Given the description of an element on the screen output the (x, y) to click on. 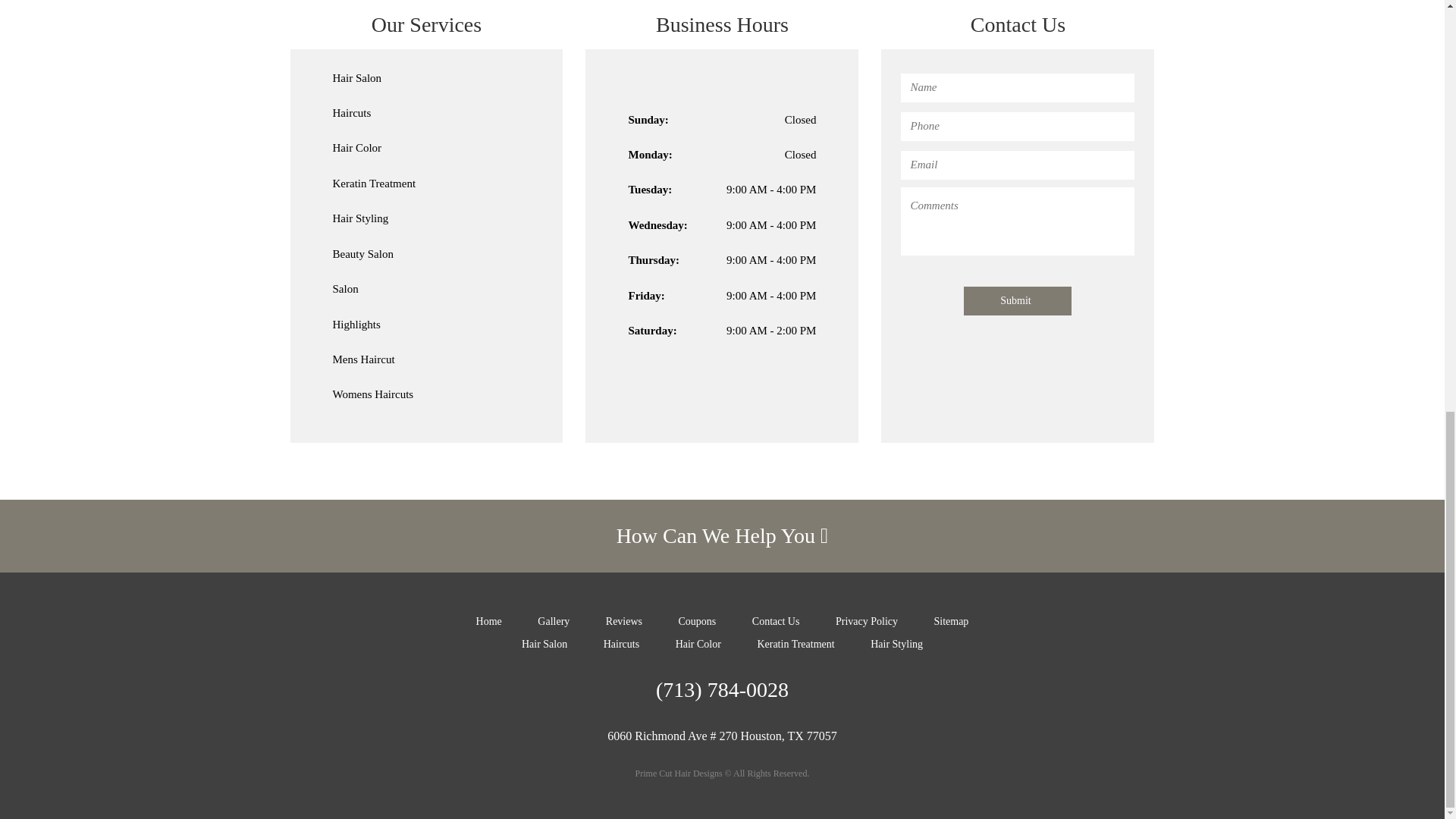
Hair Color (356, 147)
Privacy Policy (866, 621)
Hair Salon (544, 644)
Keratin Treatment (795, 644)
Beauty Salon (425, 254)
Reviews (623, 621)
Hair Salon (356, 78)
Mens Haircut (425, 359)
Womens Haircuts (372, 394)
Coupons (697, 621)
Hair Color (697, 644)
Hair Styling  (425, 218)
Salon (425, 289)
Hair Styling (359, 218)
Gallery (553, 621)
